Given the description of an element on the screen output the (x, y) to click on. 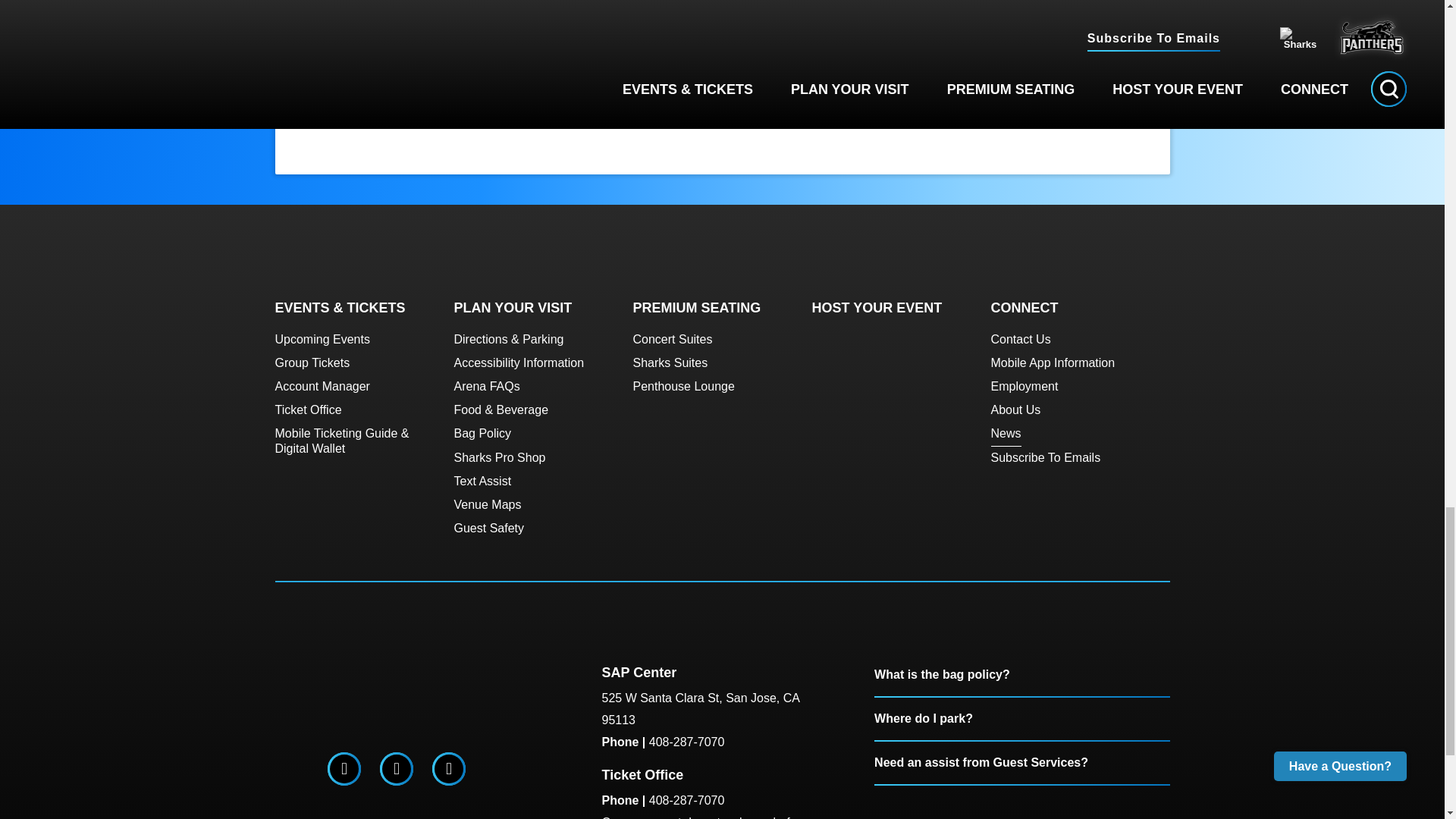
SAP Center (396, 699)
Twitter (344, 768)
Instagram (448, 768)
Facebook (395, 768)
